Given the description of an element on the screen output the (x, y) to click on. 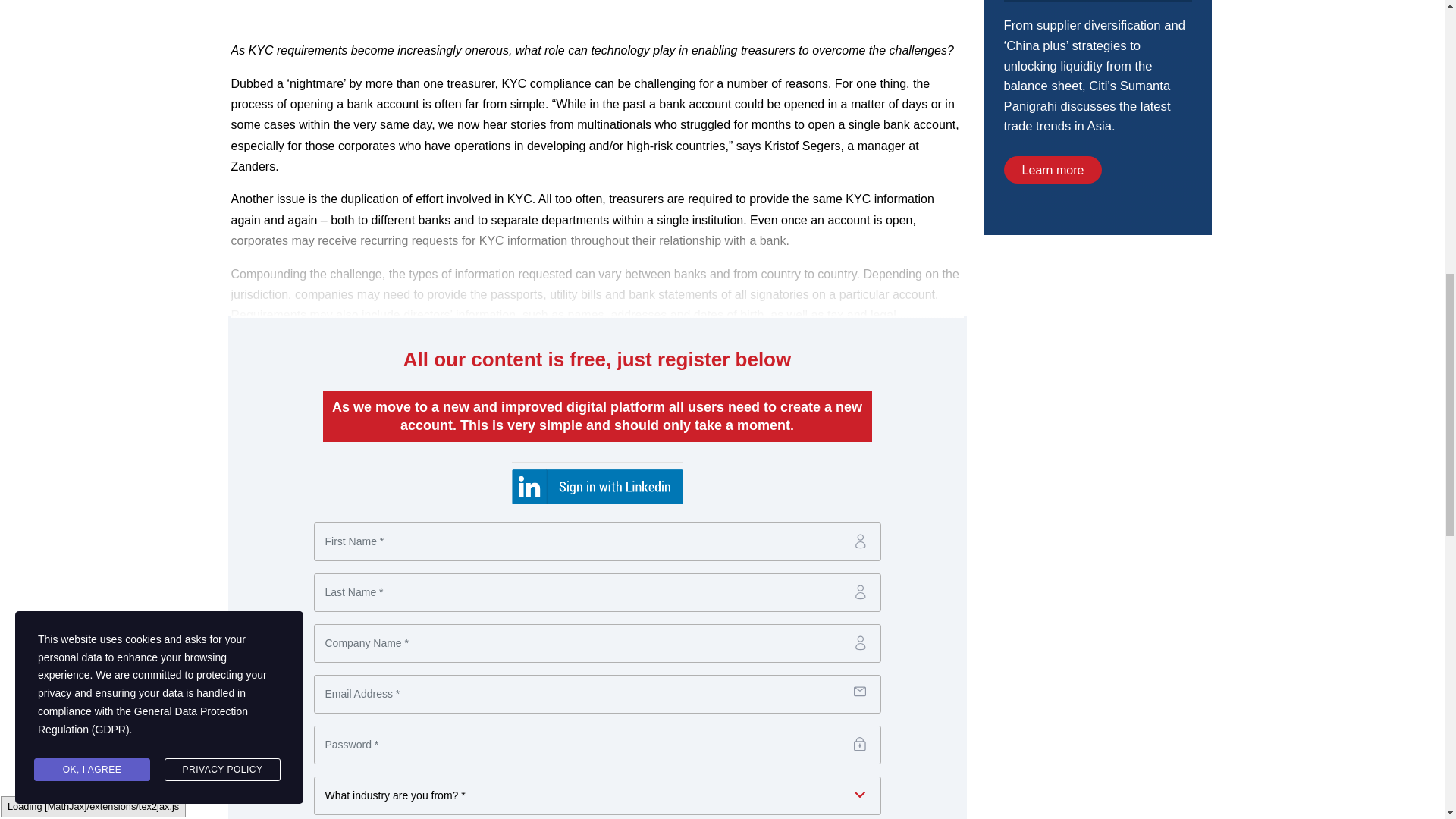
3rd party ad content (1097, 362)
3rd party ad content (1097, 117)
